Given the description of an element on the screen output the (x, y) to click on. 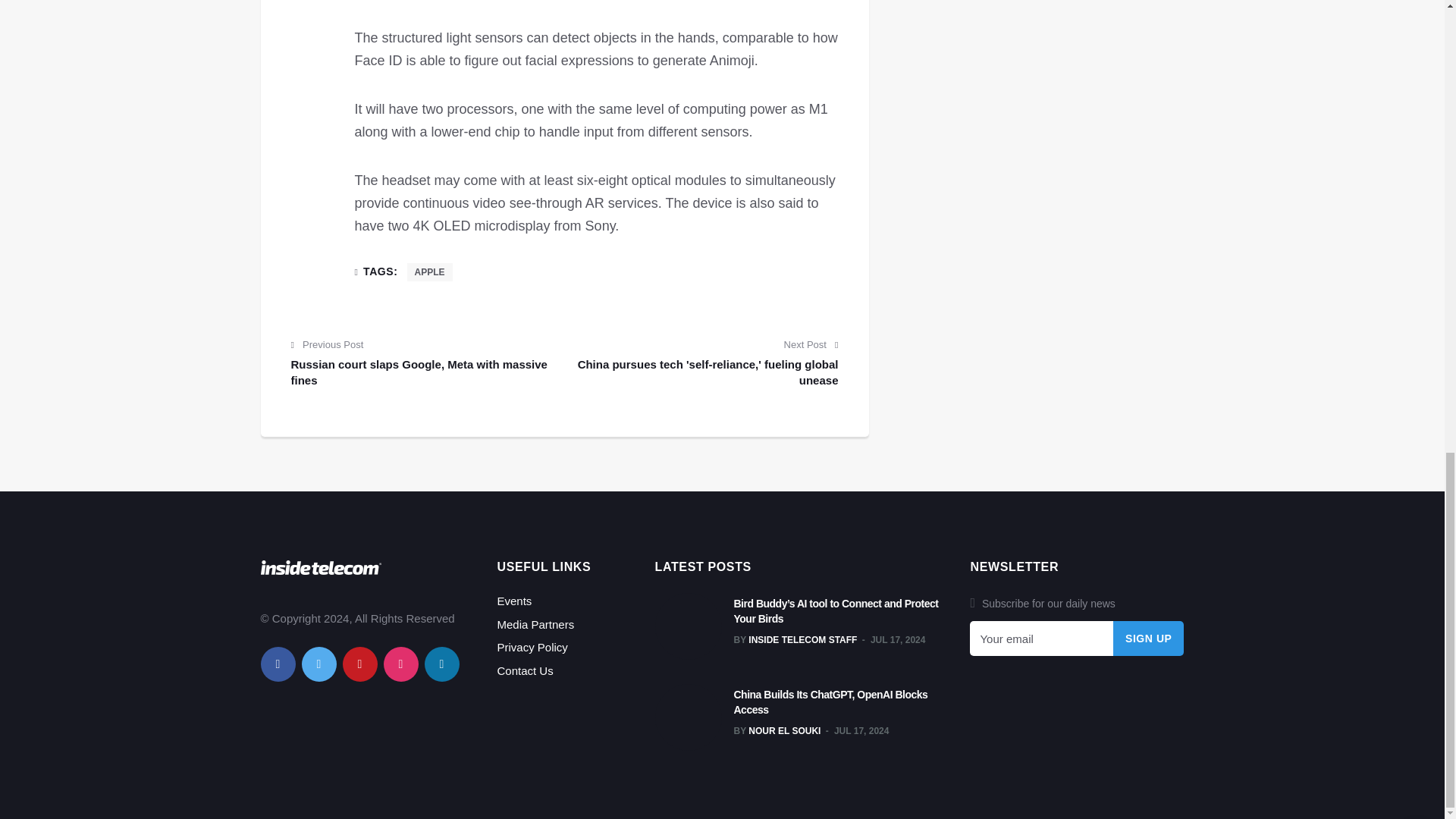
Sign Up (1149, 638)
